Given the description of an element on the screen output the (x, y) to click on. 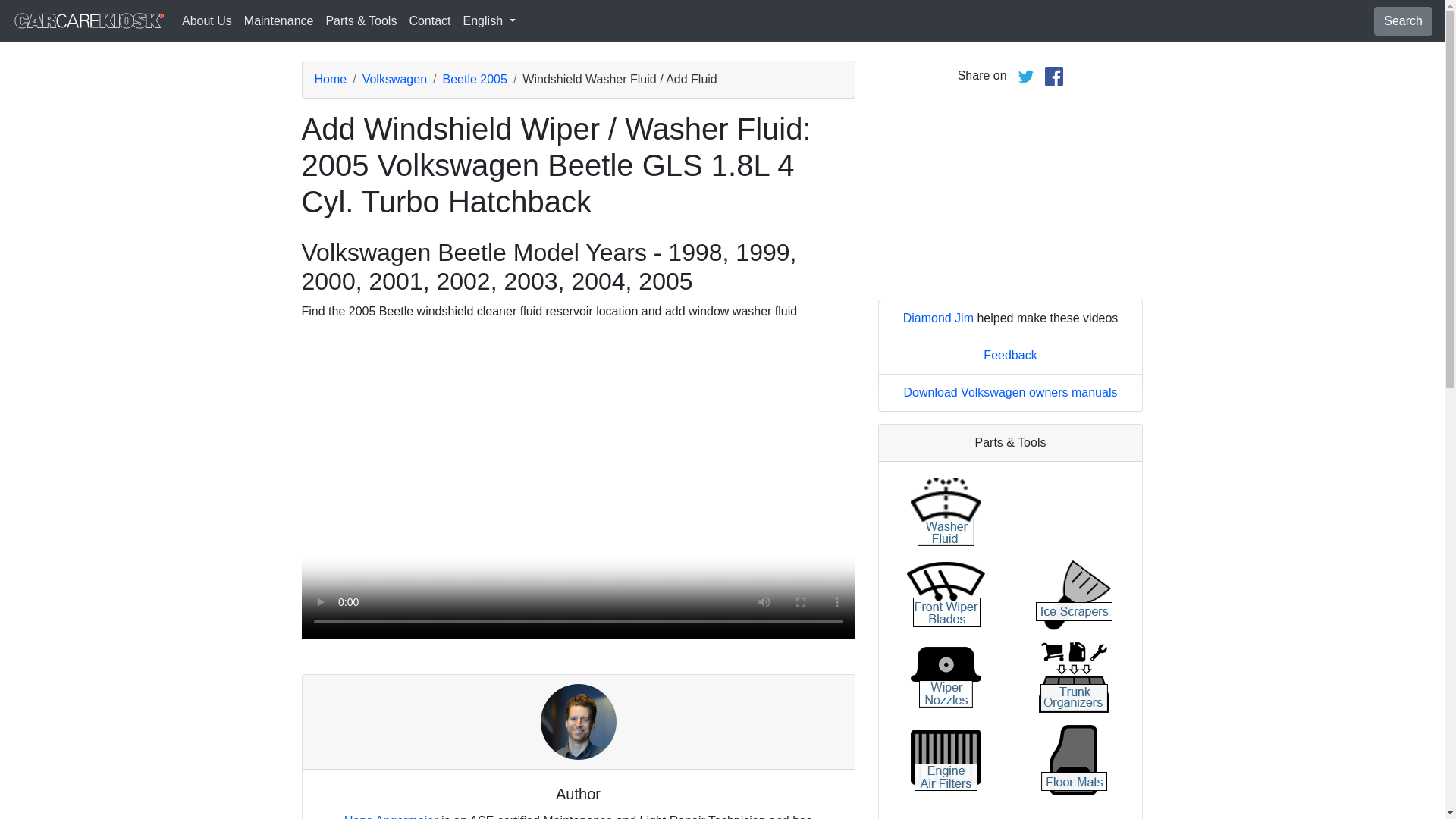
Download Volkswagen owners manuals (1011, 391)
Beetle 2005 (474, 79)
Volkswagen (394, 79)
About Us (207, 20)
Feedback (1010, 354)
Contact (430, 20)
Diamond Jim (938, 318)
Home (330, 79)
Maintenance (279, 20)
Search (1403, 21)
